Given the description of an element on the screen output the (x, y) to click on. 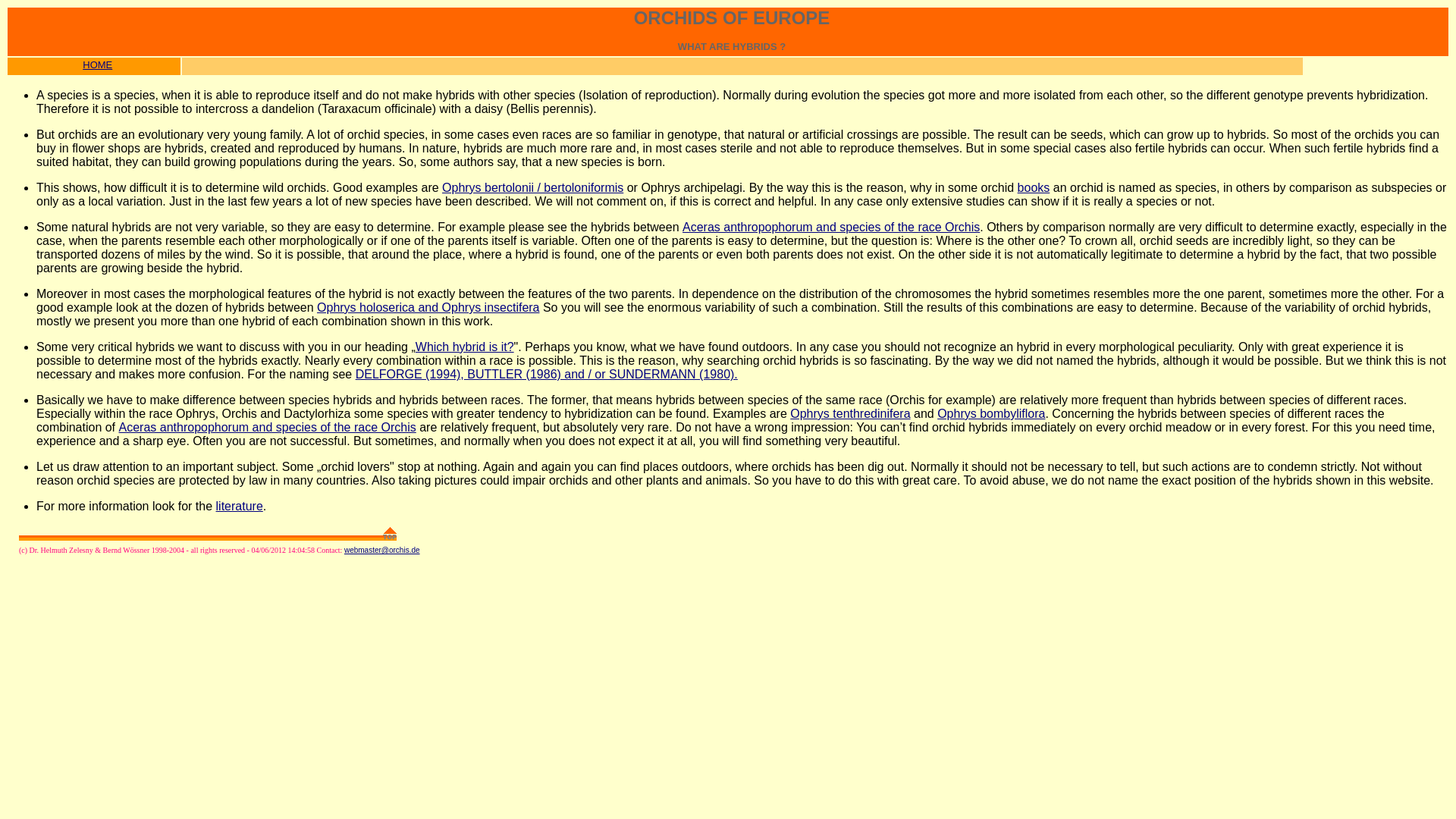
books (1033, 187)
literature (239, 505)
Ophrys bombyliflora (991, 413)
Aceras anthropophorum and species of the race Orchis (267, 427)
Which hybrid is it? (463, 346)
Ophrys tenthredinifera (850, 413)
Aceras anthropophorum and species of the race Orchis (830, 226)
HOME (97, 64)
Ophrys holoserica and Ophrys insectifera (427, 307)
